Given the description of an element on the screen output the (x, y) to click on. 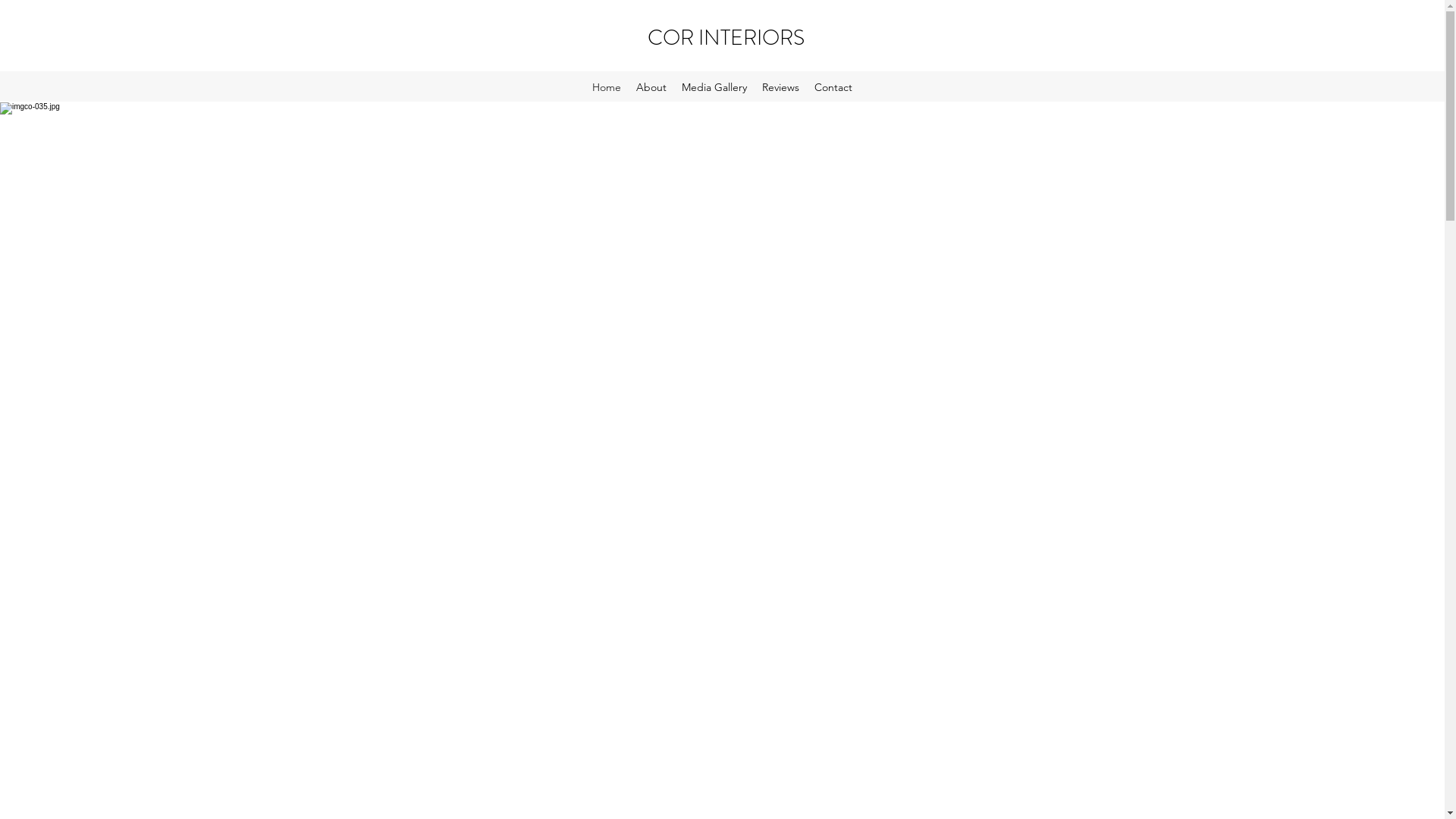
About Element type: text (651, 86)
COR INTERIORS Element type: text (725, 37)
Reviews Element type: text (780, 86)
Home Element type: text (606, 86)
Media Gallery Element type: text (714, 86)
Contact Element type: text (832, 86)
